Given the description of an element on the screen output the (x, y) to click on. 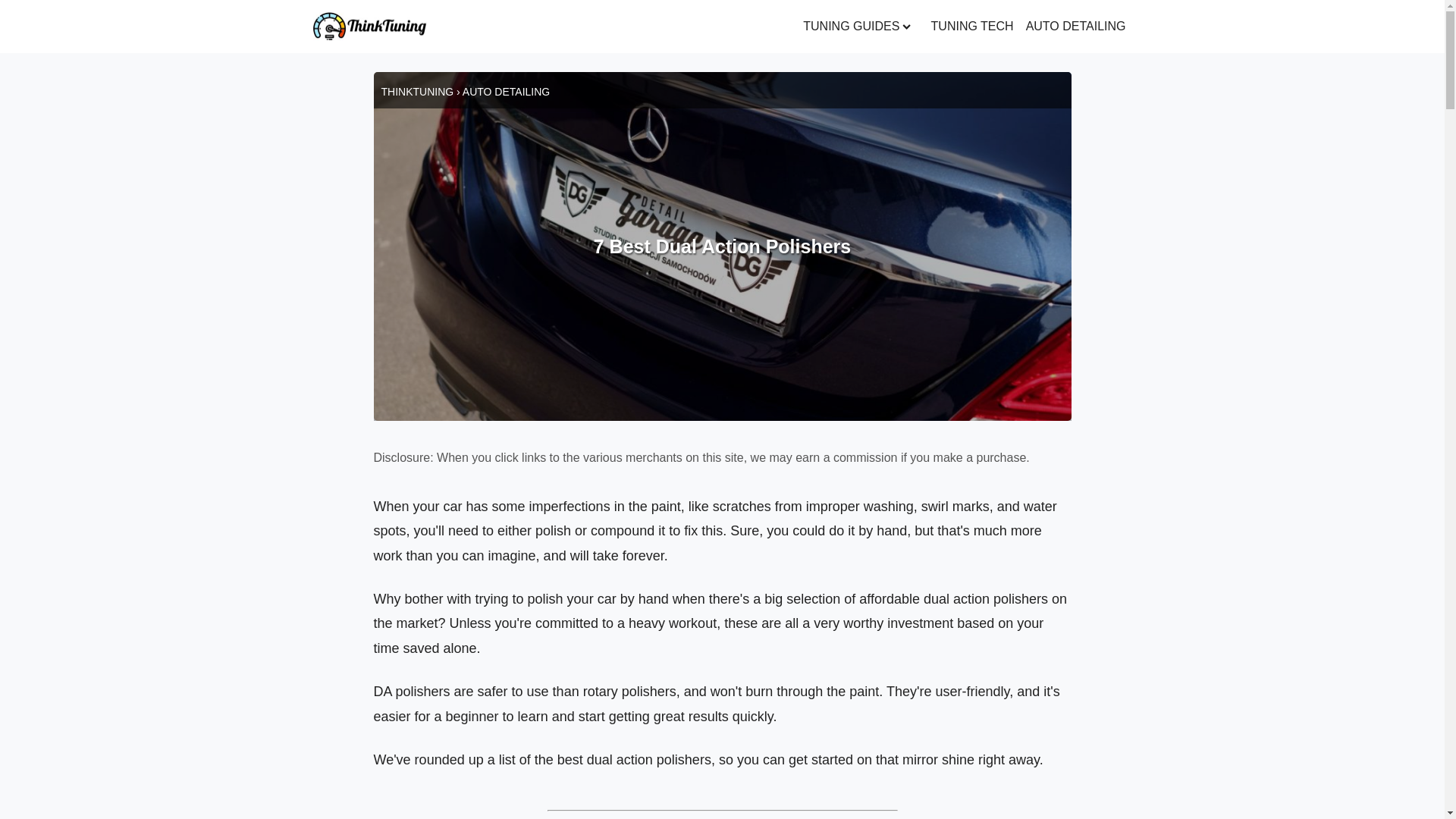
AUTO DETAILING (1076, 26)
TUNING GUIDES (860, 26)
AUTO DETAILING (506, 91)
THINKTUNING (416, 91)
TUNING TECH (972, 26)
